Given the description of an element on the screen output the (x, y) to click on. 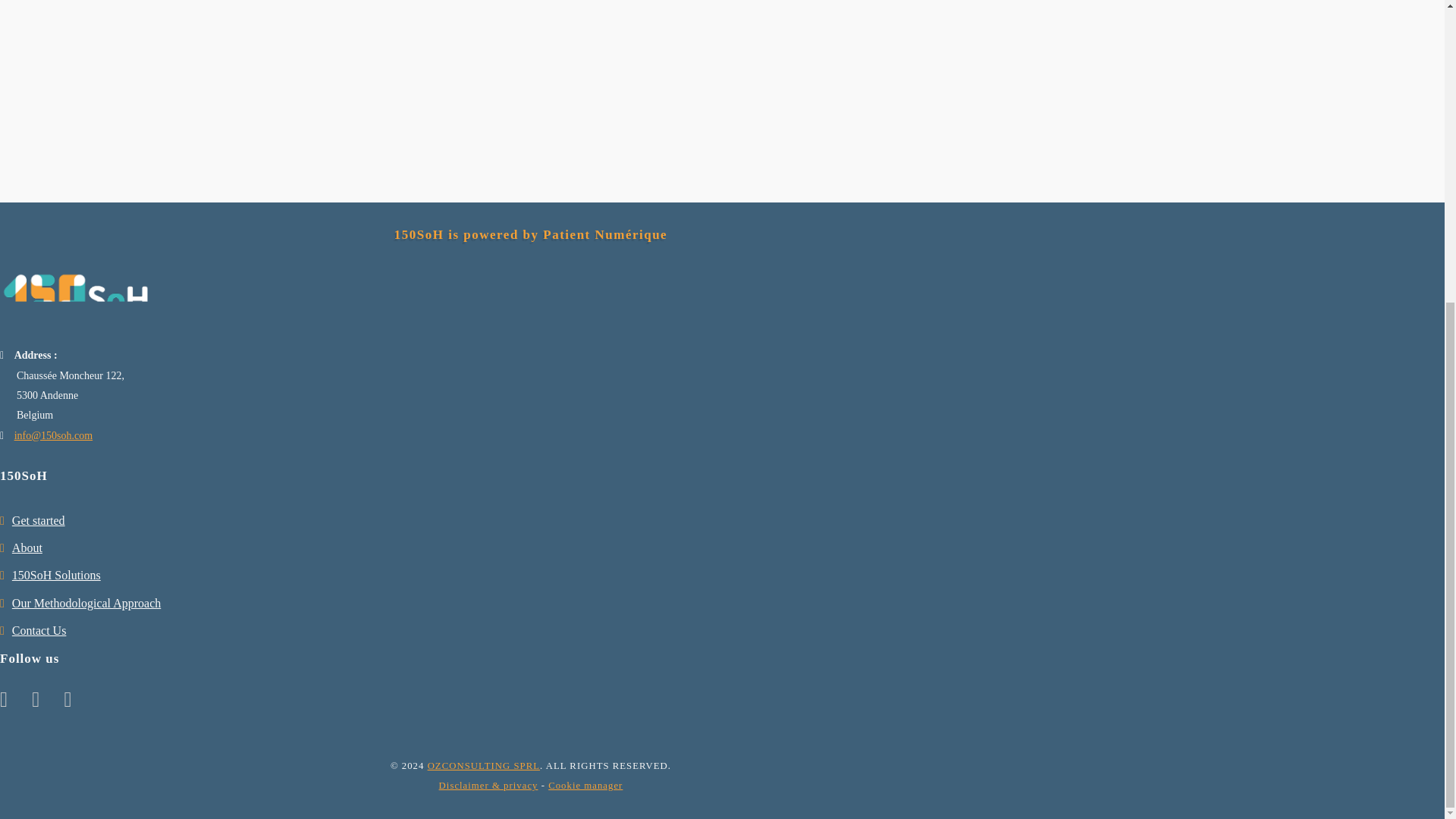
Our Methodological Approach (85, 603)
Contact Us (38, 630)
150SoH Solutions (55, 574)
Get started (38, 520)
OZCONSULTING SPRL (484, 765)
Cookie manager (585, 785)
About (26, 547)
